Given the description of an element on the screen output the (x, y) to click on. 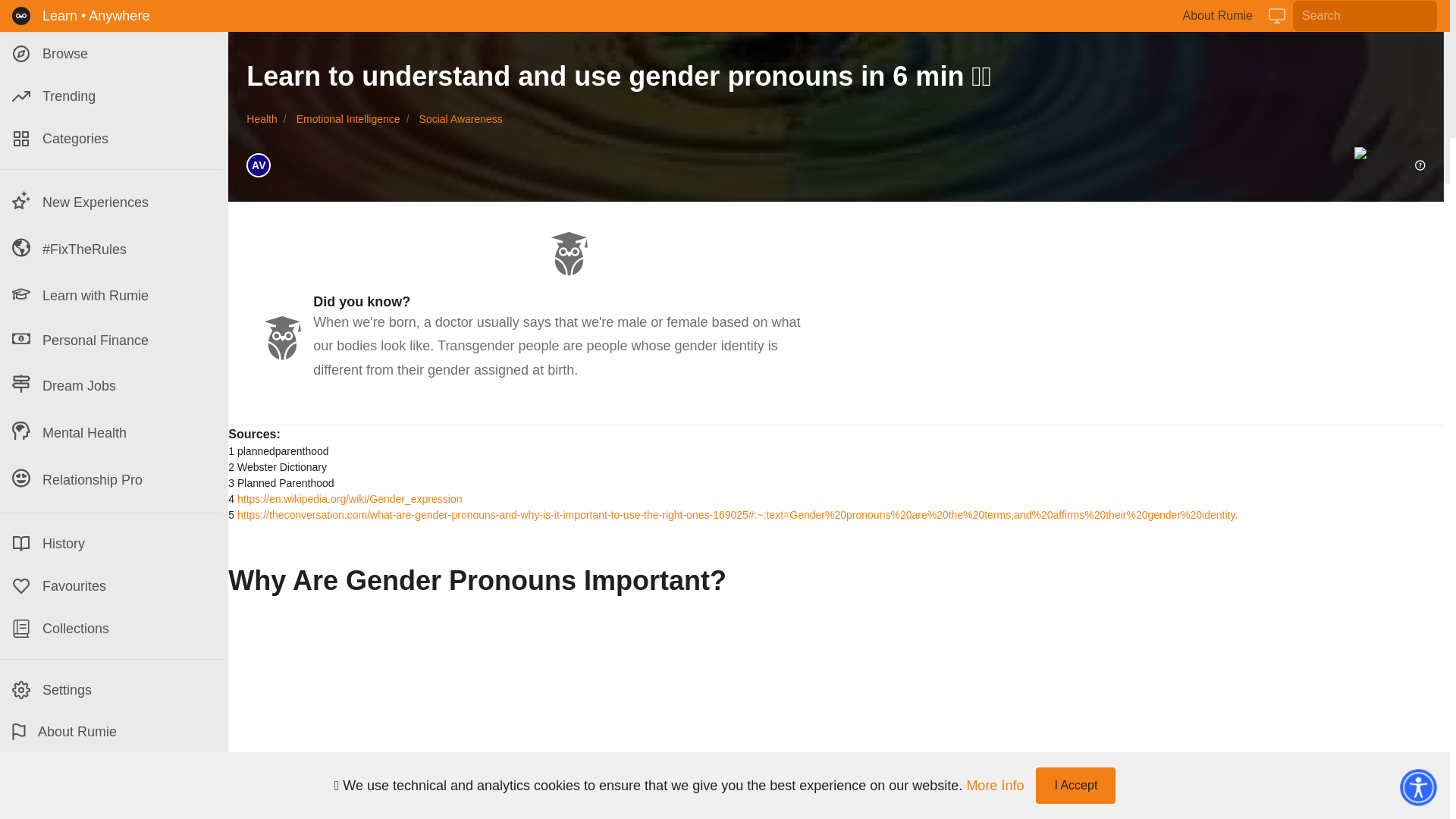
History (111, 543)
Mental Health (111, 432)
Dream Jobs (111, 385)
Personal Finance (111, 339)
Learn with Rumie (111, 294)
Review Board (90, 780)
Cookie (130, 797)
Favourites (111, 586)
Emotional Intelligence (348, 119)
Editorial Policy (174, 780)
